Given the description of an element on the screen output the (x, y) to click on. 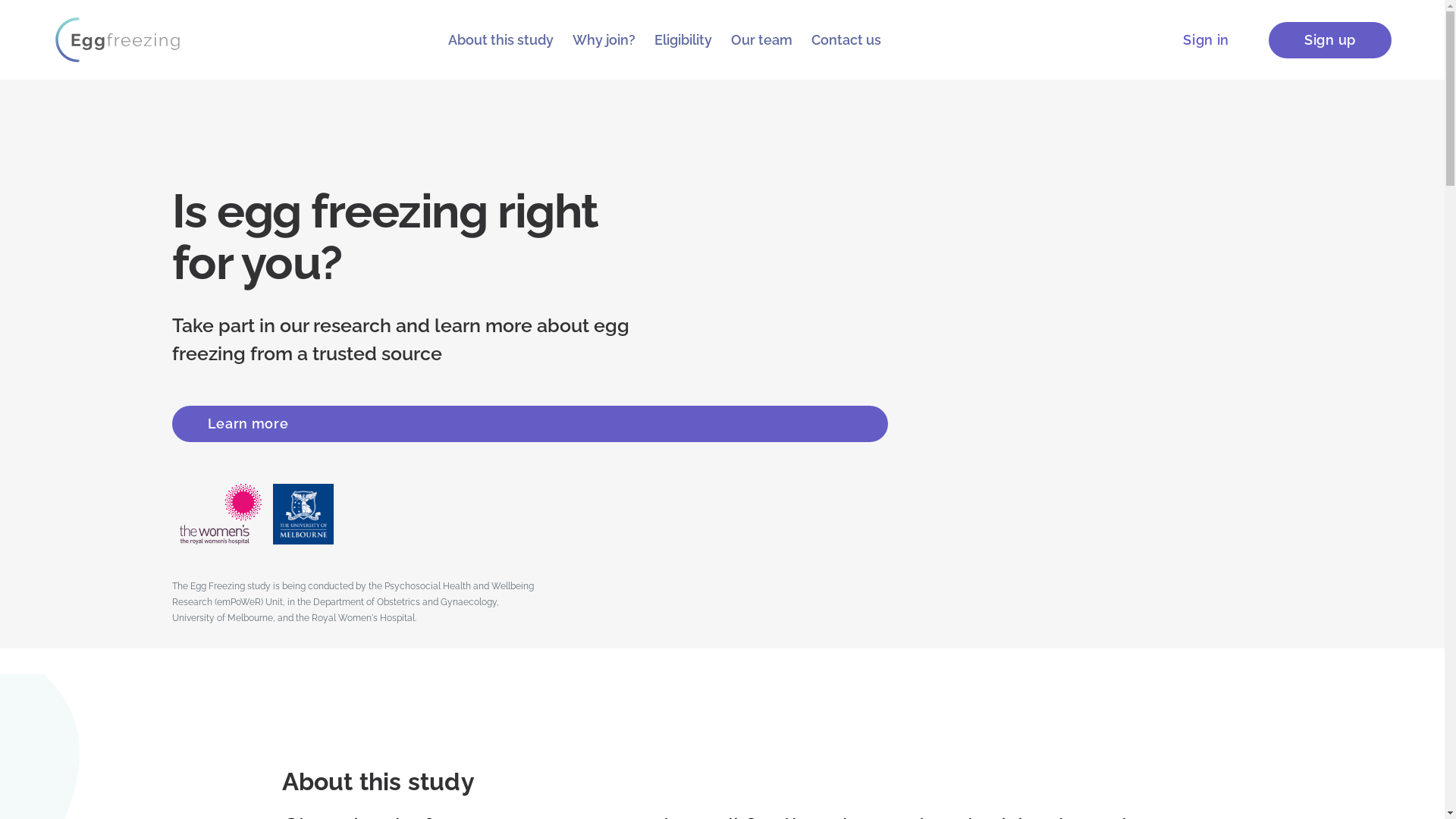
Contact us Element type: text (845, 39)
Our team Element type: text (761, 39)
Eligibility Element type: text (682, 39)
Sign in Element type: text (1205, 39)
Why join? Element type: text (603, 39)
Sign up Element type: text (1329, 39)
About this study Element type: text (500, 39)
Learn more Element type: text (529, 423)
